Given the description of an element on the screen output the (x, y) to click on. 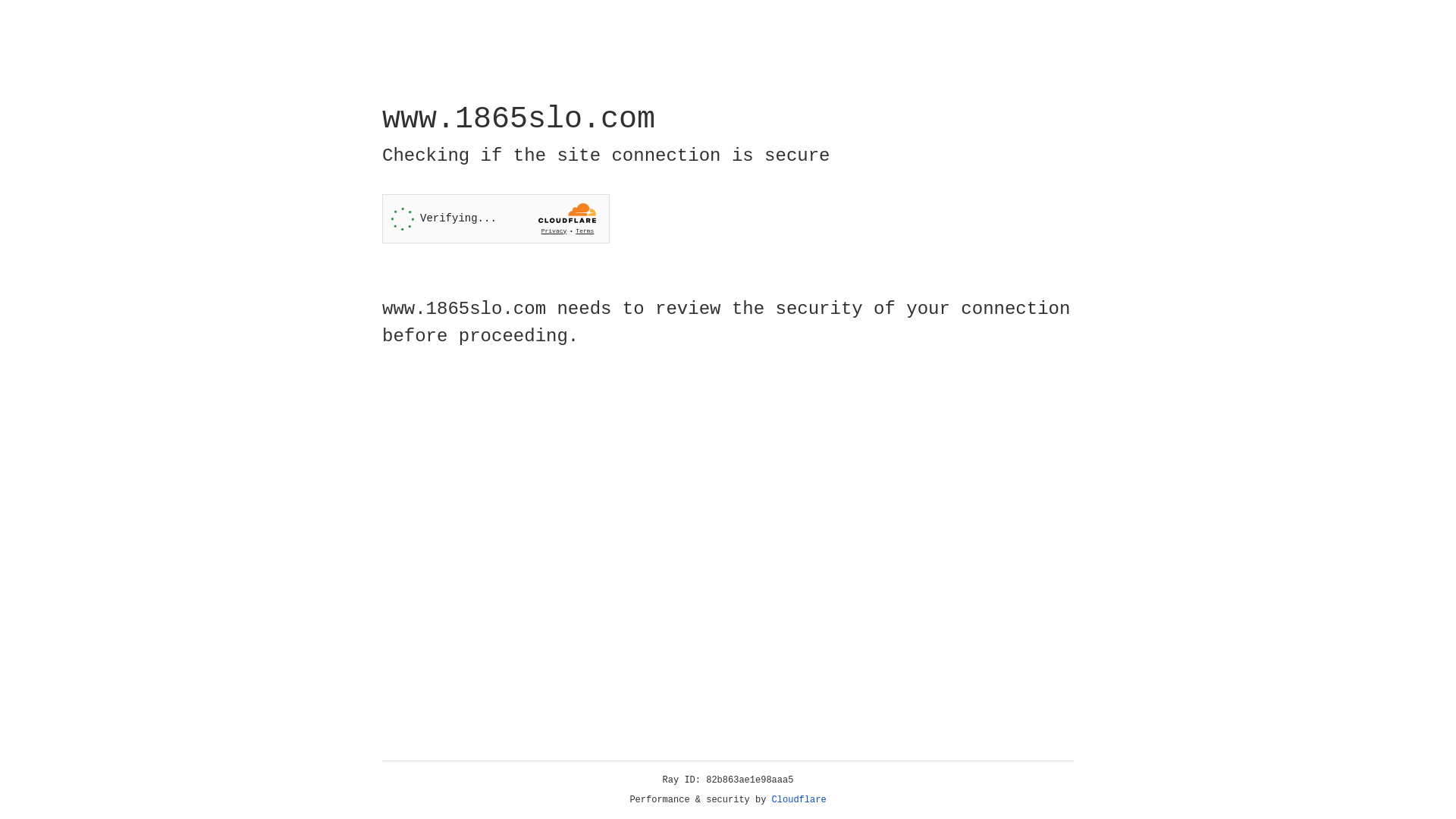
Cloudflare Element type: text (798, 799)
Widget containing a Cloudflare security challenge Element type: hover (495, 218)
